Given the description of an element on the screen output the (x, y) to click on. 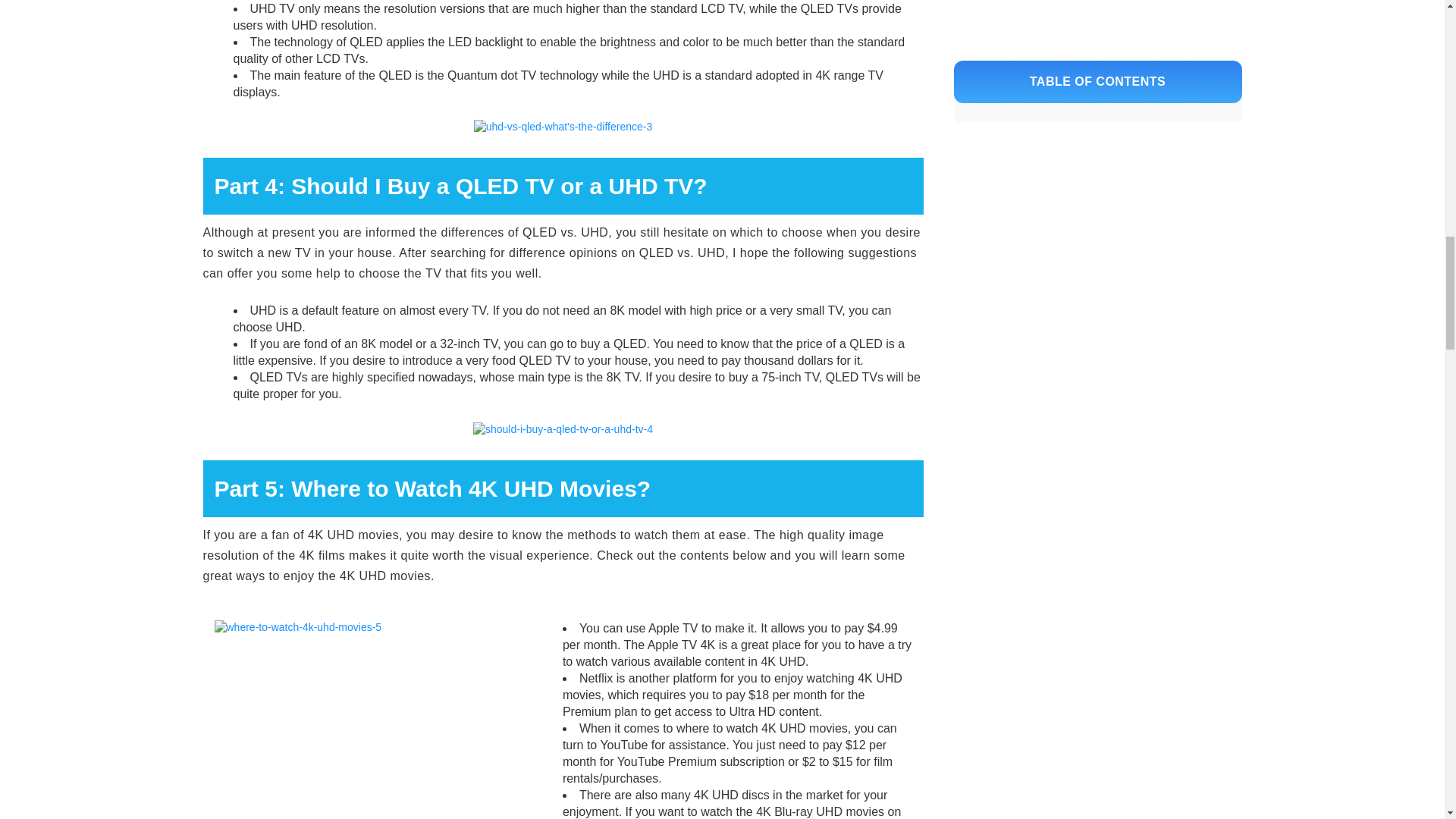
uhd-vs-qled-what's-the-difference-3 (563, 127)
where-to-watch-4k-uhd-movies-5 (297, 627)
should-i-buy-a-qled-tv-or-a-uhd-tv-4 (562, 429)
